Given the description of an element on the screen output the (x, y) to click on. 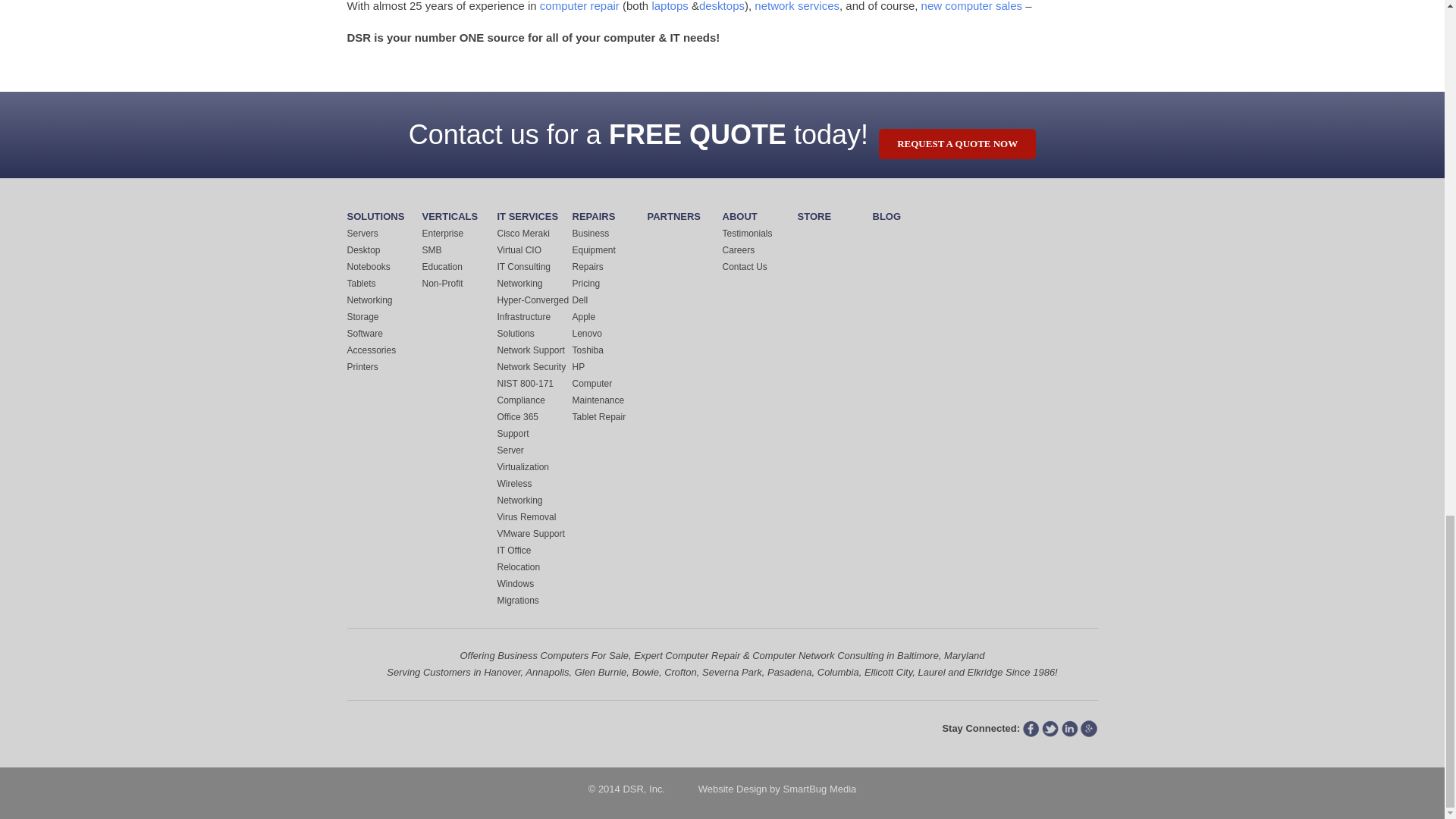
Click here to learn more about our products (971, 6)
Website Design (732, 788)
Click here to learn about network services (797, 6)
Request A Quote Now (957, 143)
SmartBug Media (819, 788)
